Given the description of an element on the screen output the (x, y) to click on. 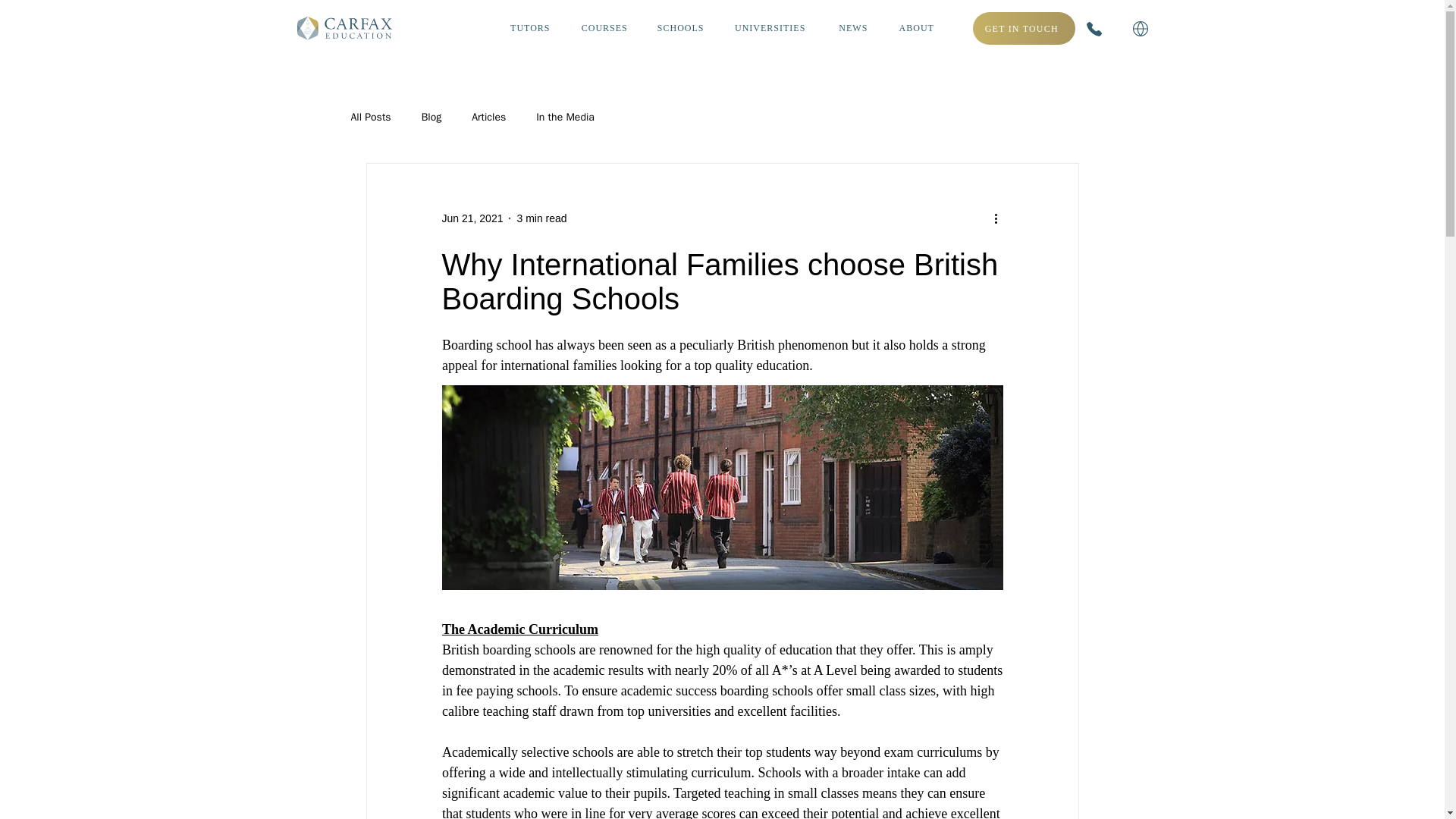
GET IN TOUCH (1023, 28)
COURSES (603, 27)
SCHOOLS (681, 27)
TUTORS (530, 27)
Blog (432, 117)
3 min read (541, 218)
In the Media (564, 117)
Articles (488, 117)
Jun 21, 2021 (471, 218)
UNIVERSITIES (770, 27)
